Given the description of an element on the screen output the (x, y) to click on. 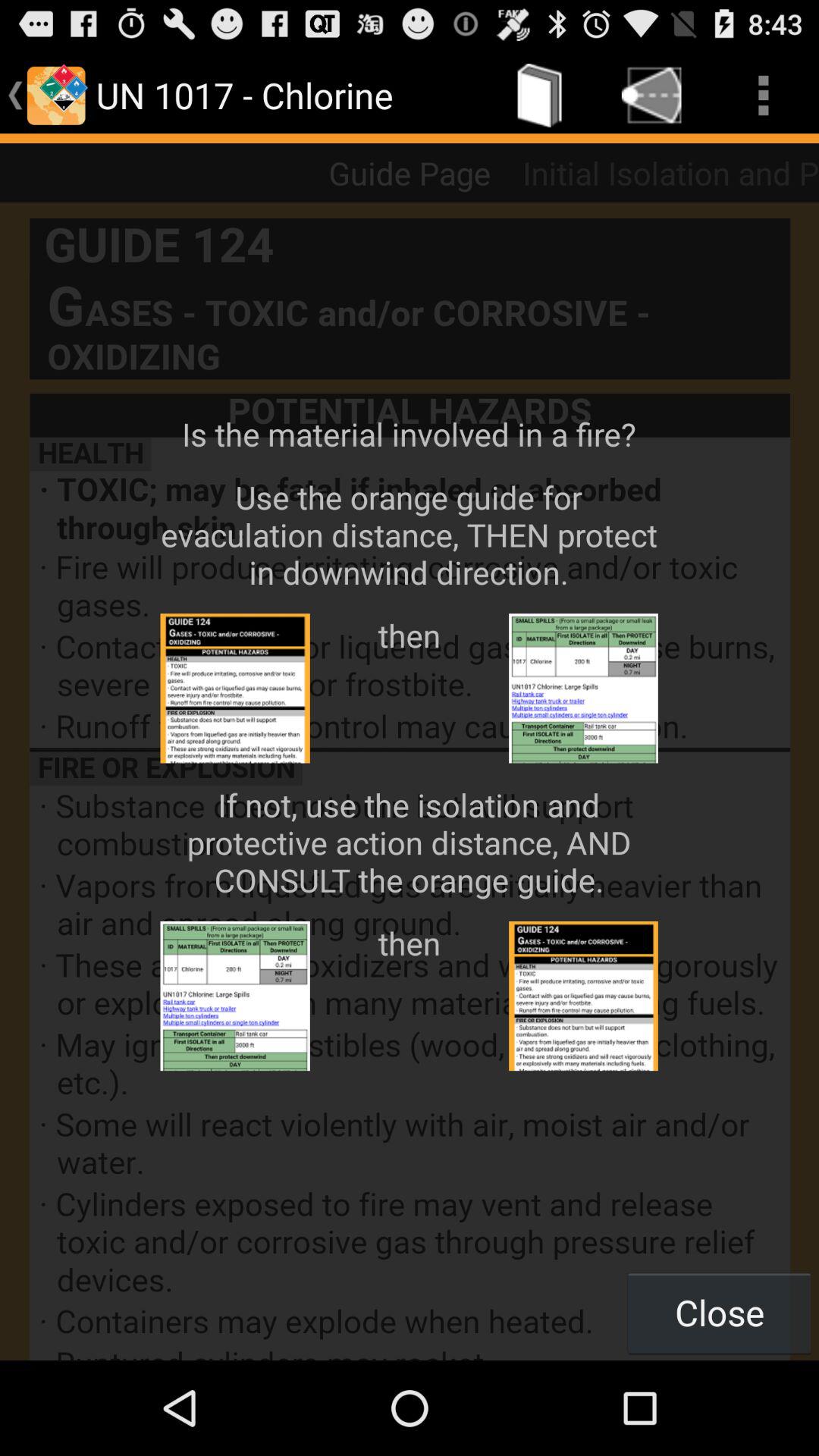
close the popup message (409, 781)
